Given the description of an element on the screen output the (x, y) to click on. 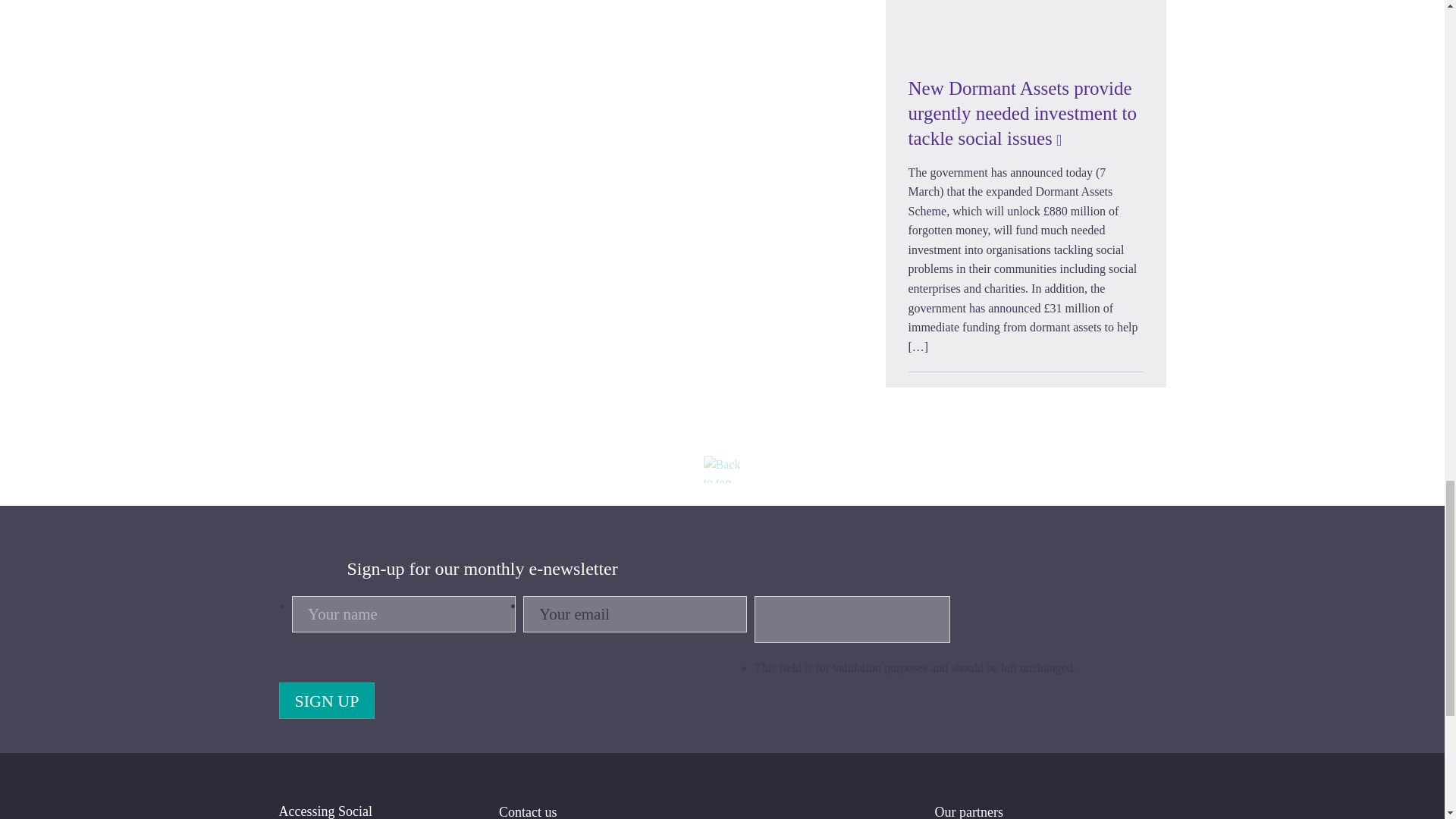
back to top (722, 469)
SIGN UP (327, 700)
Your name (403, 614)
Your email (634, 614)
